Given the description of an element on the screen output the (x, y) to click on. 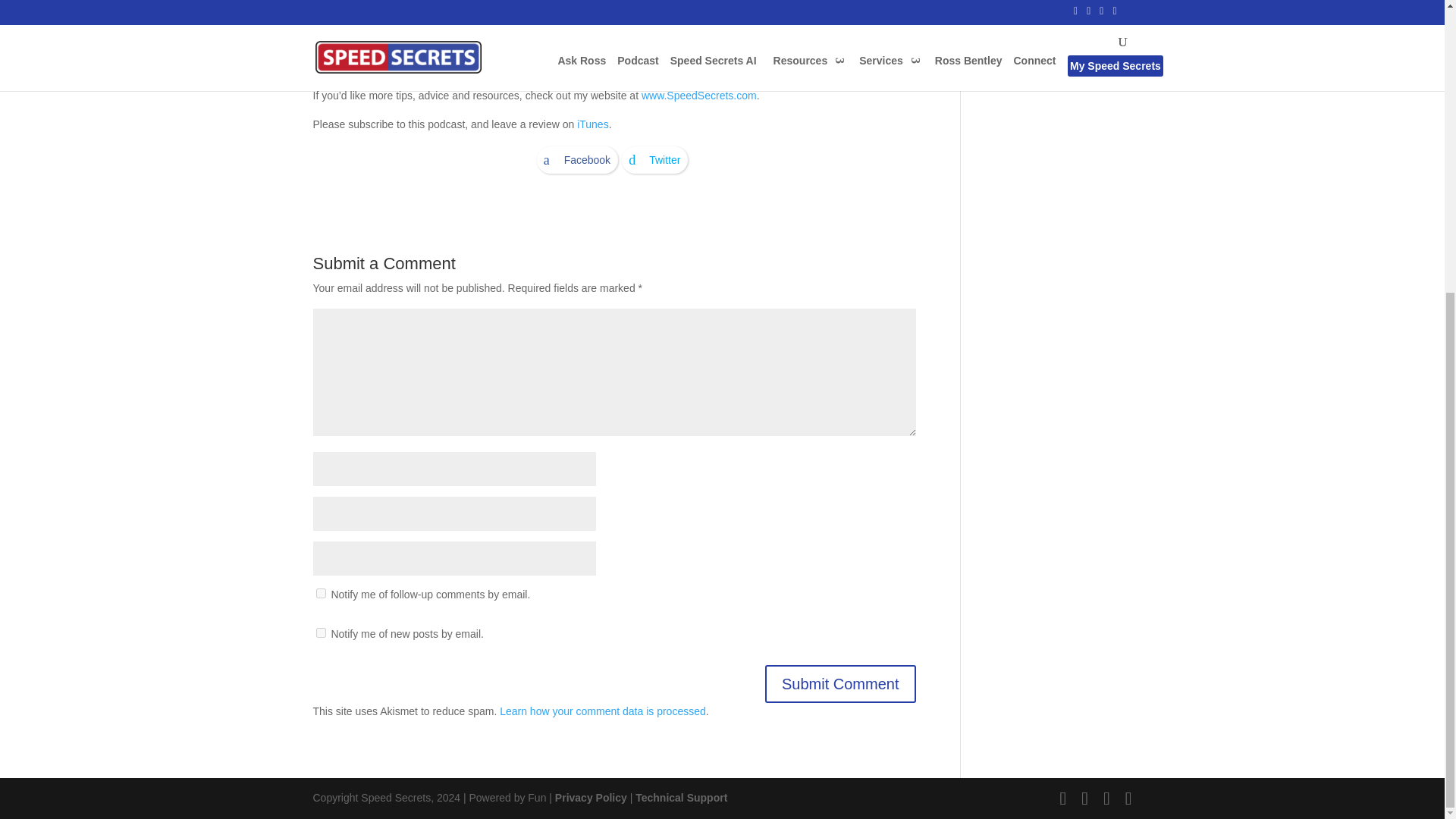
subscribe (319, 633)
Submit Comment (840, 683)
subscribe (319, 593)
